Given the description of an element on the screen output the (x, y) to click on. 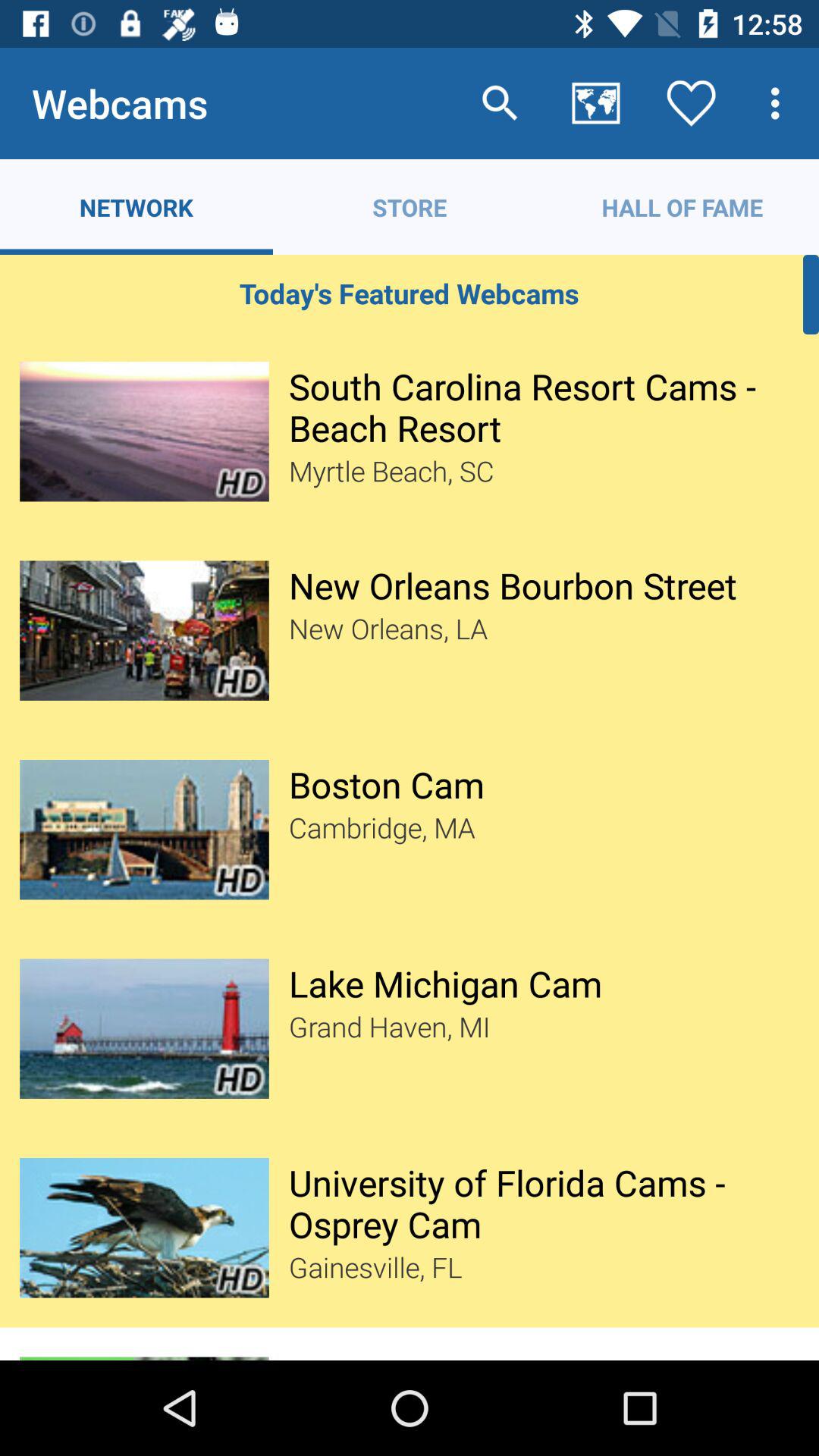
click on the image which is beside boston cam (144, 828)
